Given the description of an element on the screen output the (x, y) to click on. 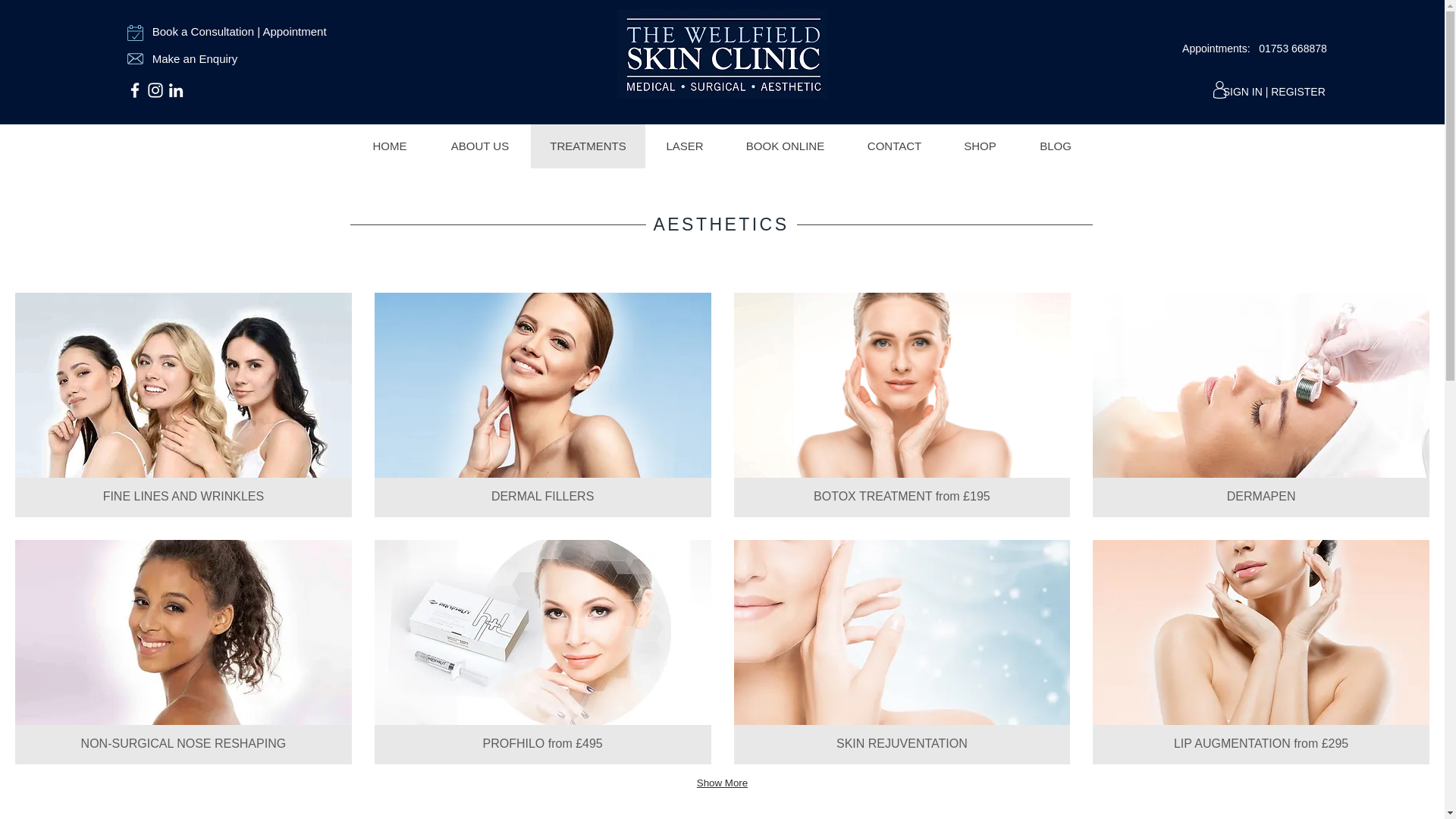
ABOUT US (480, 146)
Make an Enquiry (195, 58)
TREATMENTS (588, 146)
SHOP (979, 146)
BLOG (1055, 146)
CONTACT (893, 146)
LASER (183, 651)
HOME (684, 146)
BOOK ONLINE (389, 146)
